Given the description of an element on the screen output the (x, y) to click on. 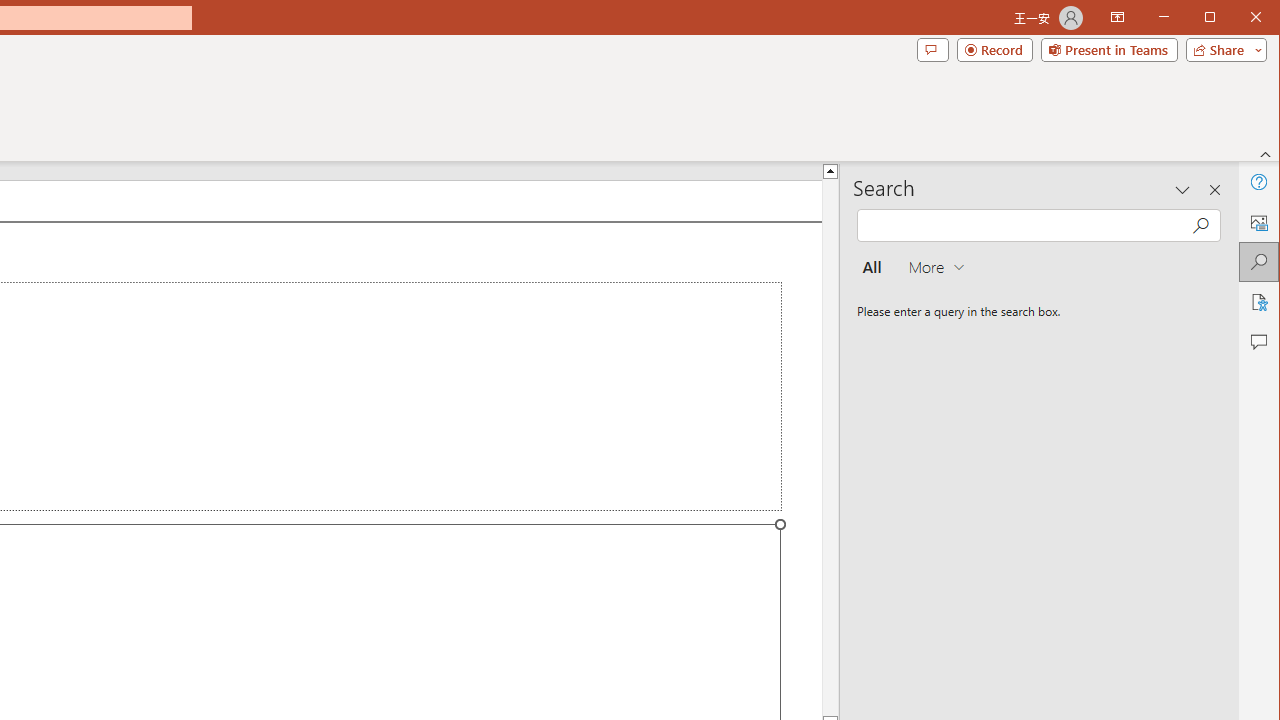
Maximize (1238, 18)
Alt Text (1258, 221)
